Given the description of an element on the screen output the (x, y) to click on. 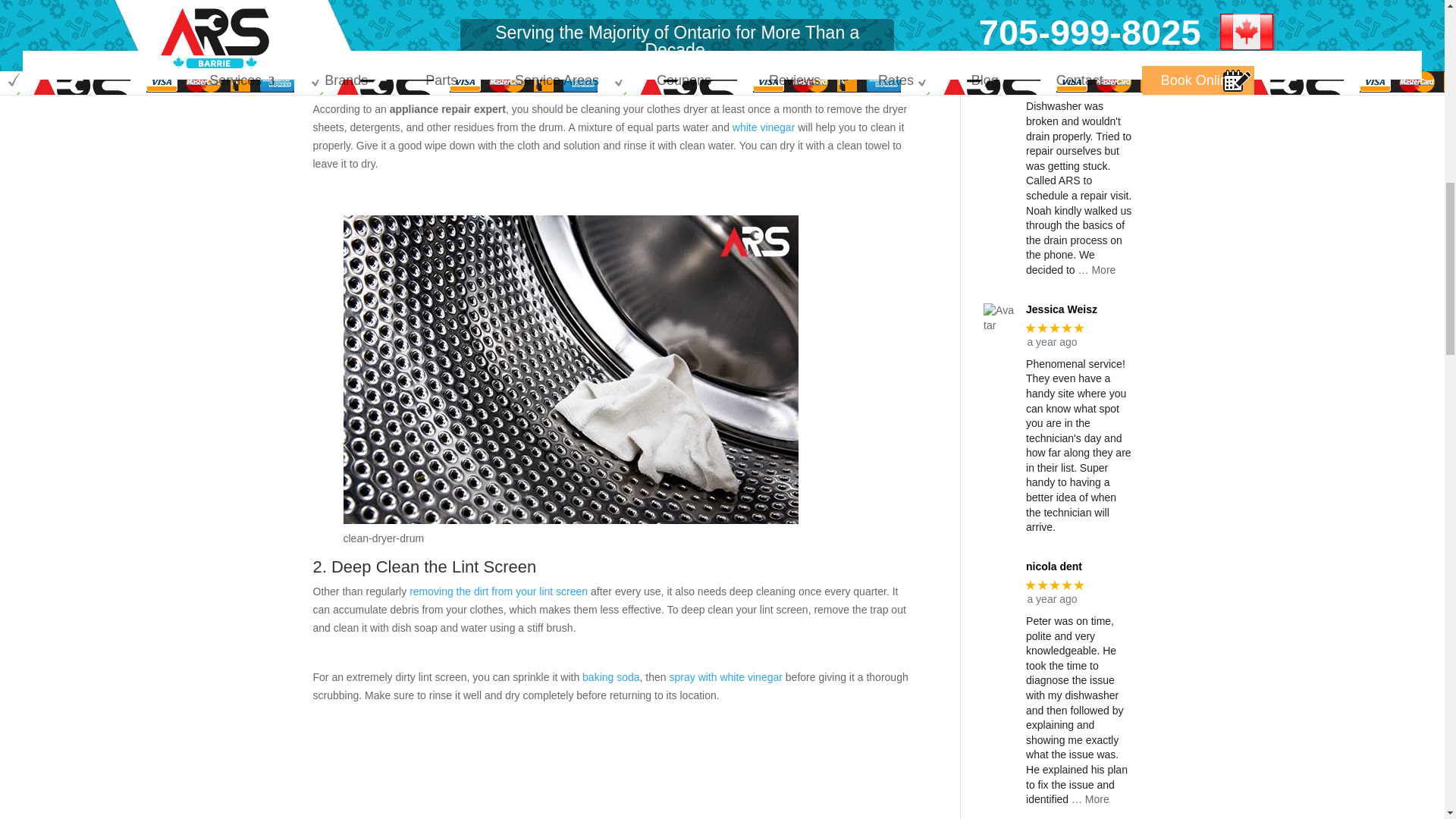
Bernard Oeltjen (1078, 51)
spray with white vinegar (726, 676)
removing the dirt from your lint screen (498, 591)
Jessica Weisz (1078, 309)
white vinegar (763, 127)
baking soda (611, 676)
nicola dent (1078, 566)
